Given the description of an element on the screen output the (x, y) to click on. 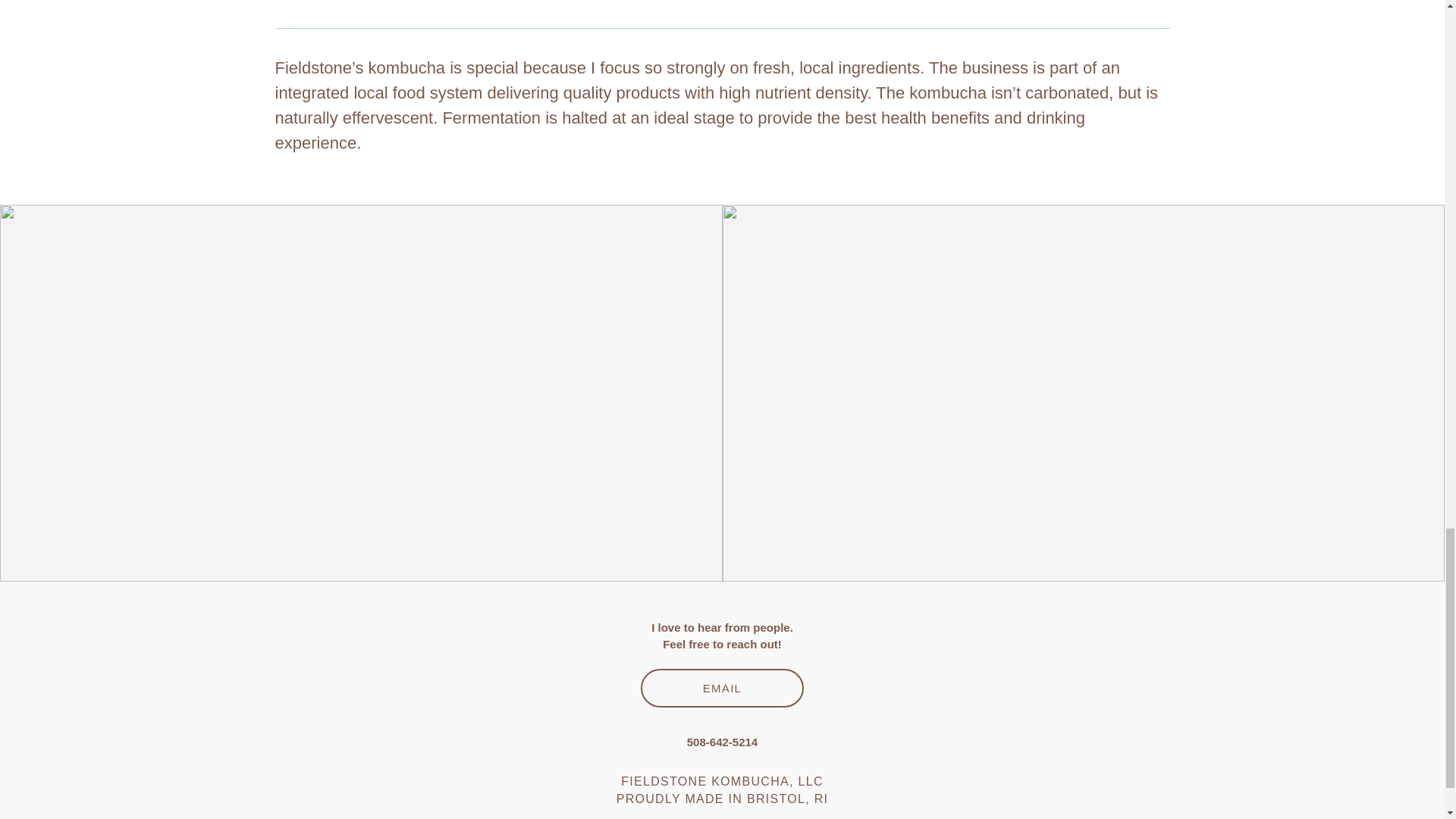
EMAIL (722, 688)
